Given the description of an element on the screen output the (x, y) to click on. 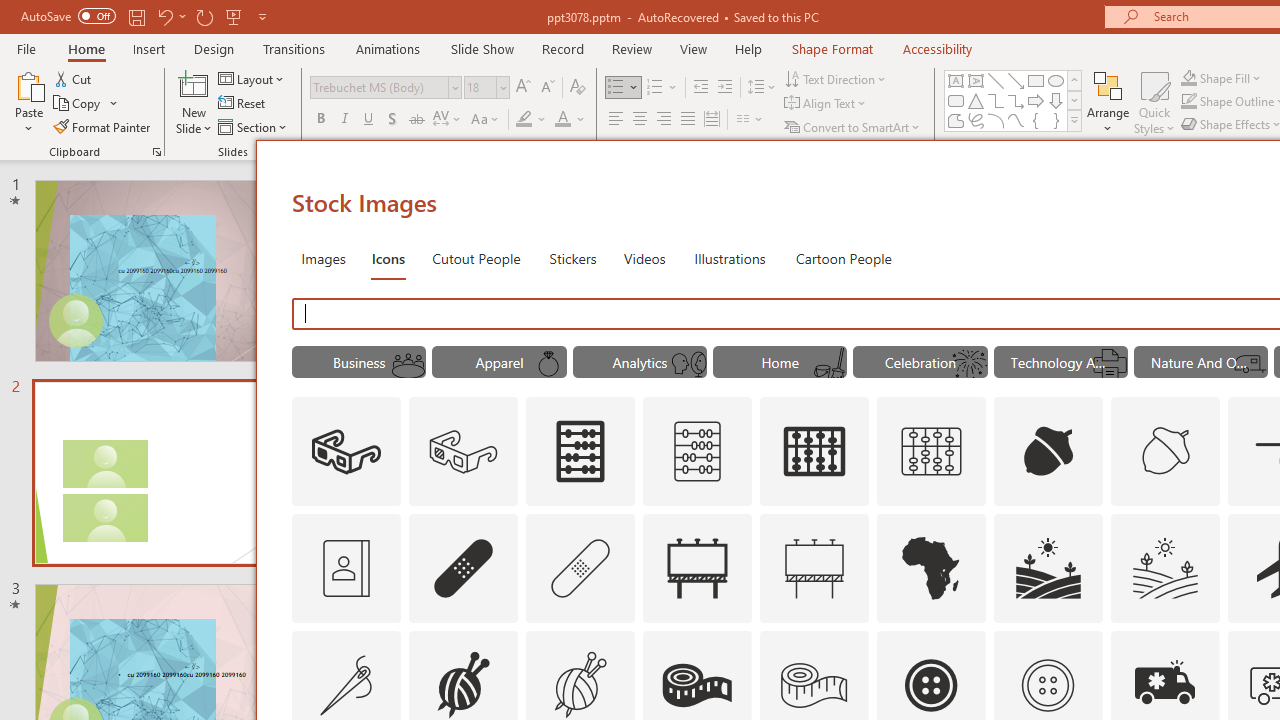
Shadow (392, 119)
Clear Formatting (577, 87)
AutomationID: Icons_3dGlasses (346, 452)
Cartoon People (843, 258)
Align Left (616, 119)
AutomationID: Icons_Abacus_M (697, 452)
AutomationID: Icons_Ring_M (549, 364)
Justify (687, 119)
